Given the description of an element on the screen output the (x, y) to click on. 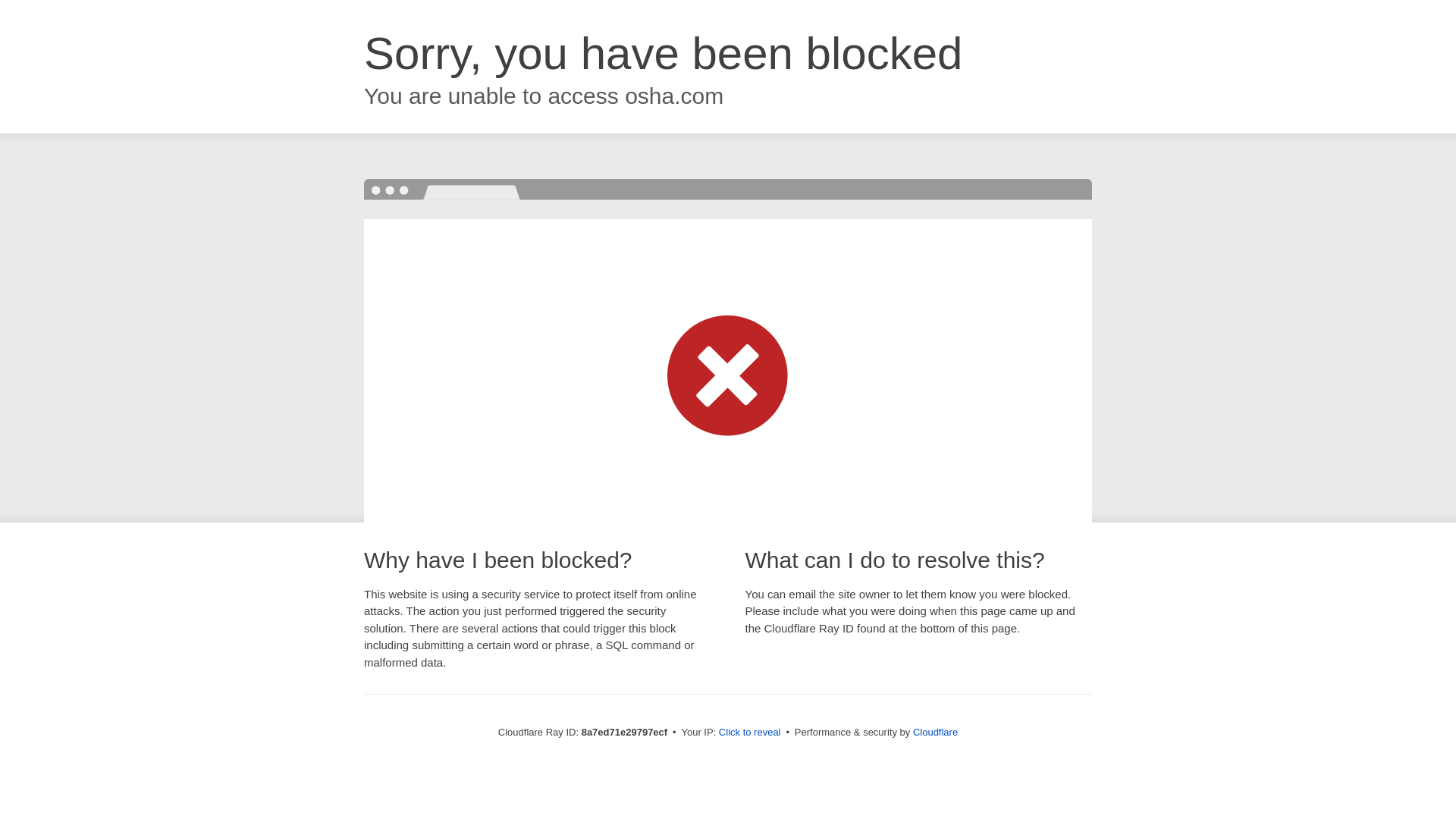
Click to reveal (749, 732)
Cloudflare (935, 731)
